Given the description of an element on the screen output the (x, y) to click on. 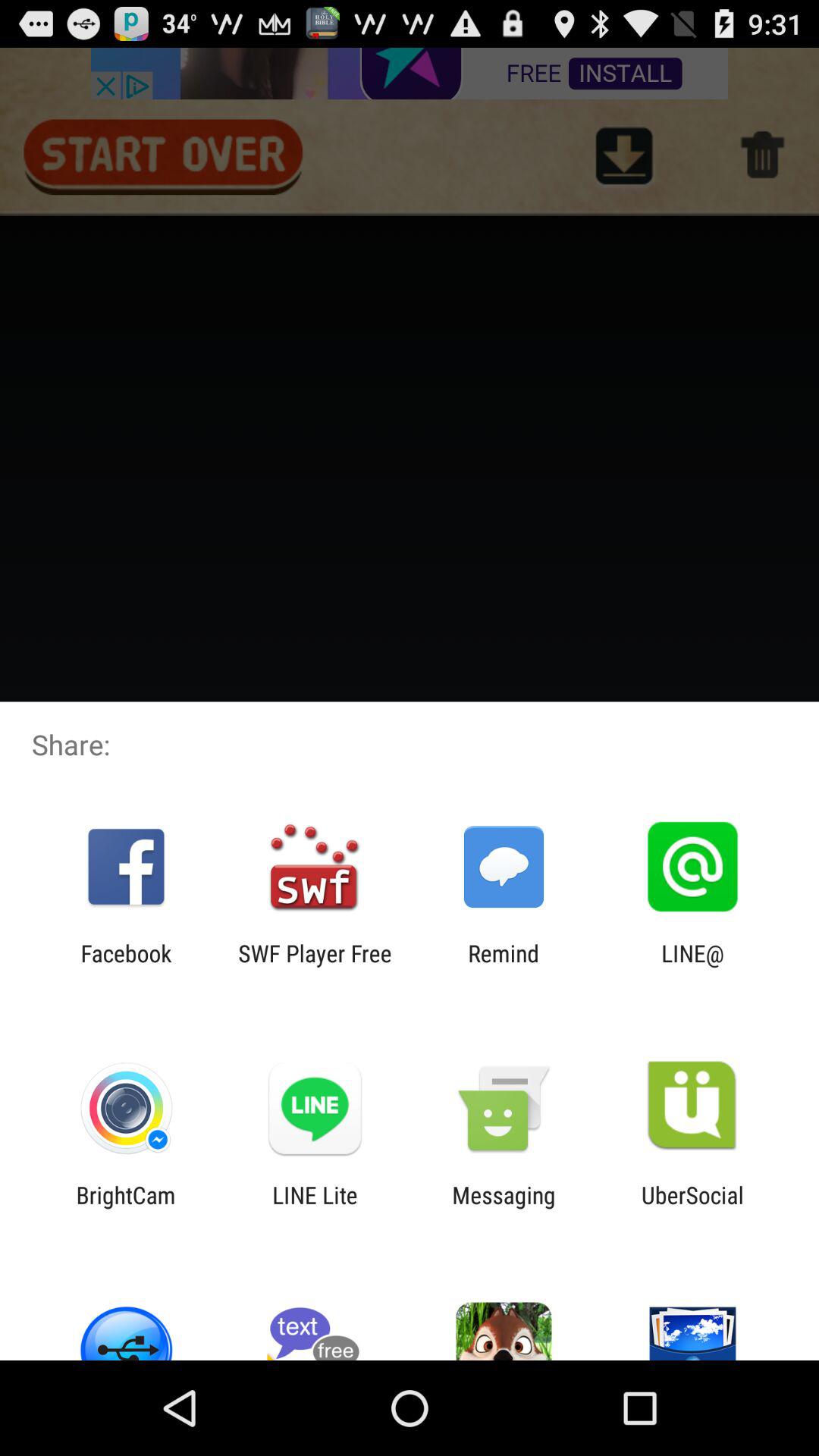
flip until messaging item (503, 1208)
